Given the description of an element on the screen output the (x, y) to click on. 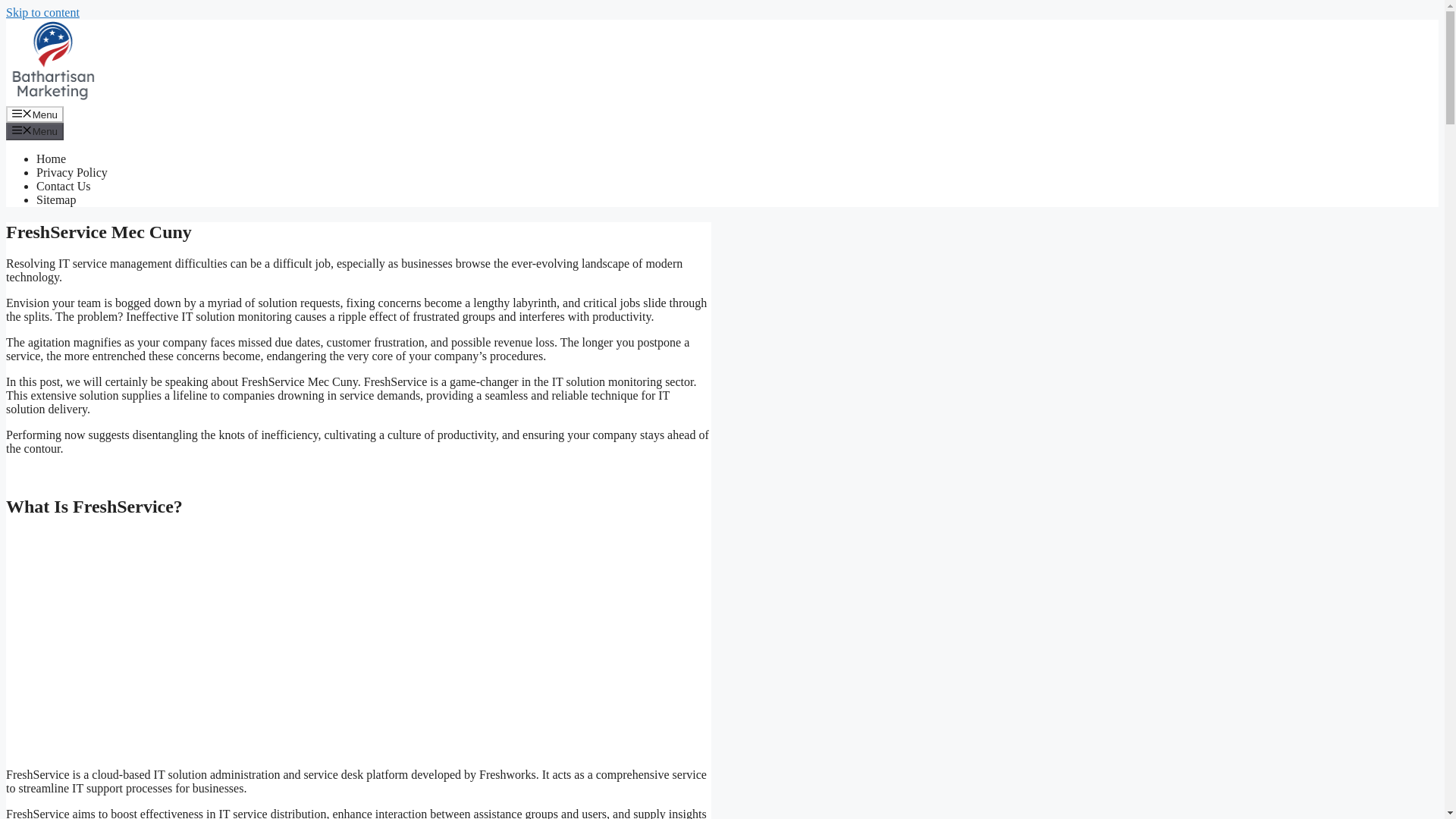
Menu (34, 130)
Contact Us (63, 185)
Skip to content (42, 11)
Home (50, 158)
Sitemap (55, 199)
Menu (34, 114)
Skip to content (42, 11)
Privacy Policy (71, 172)
